Given the description of an element on the screen output the (x, y) to click on. 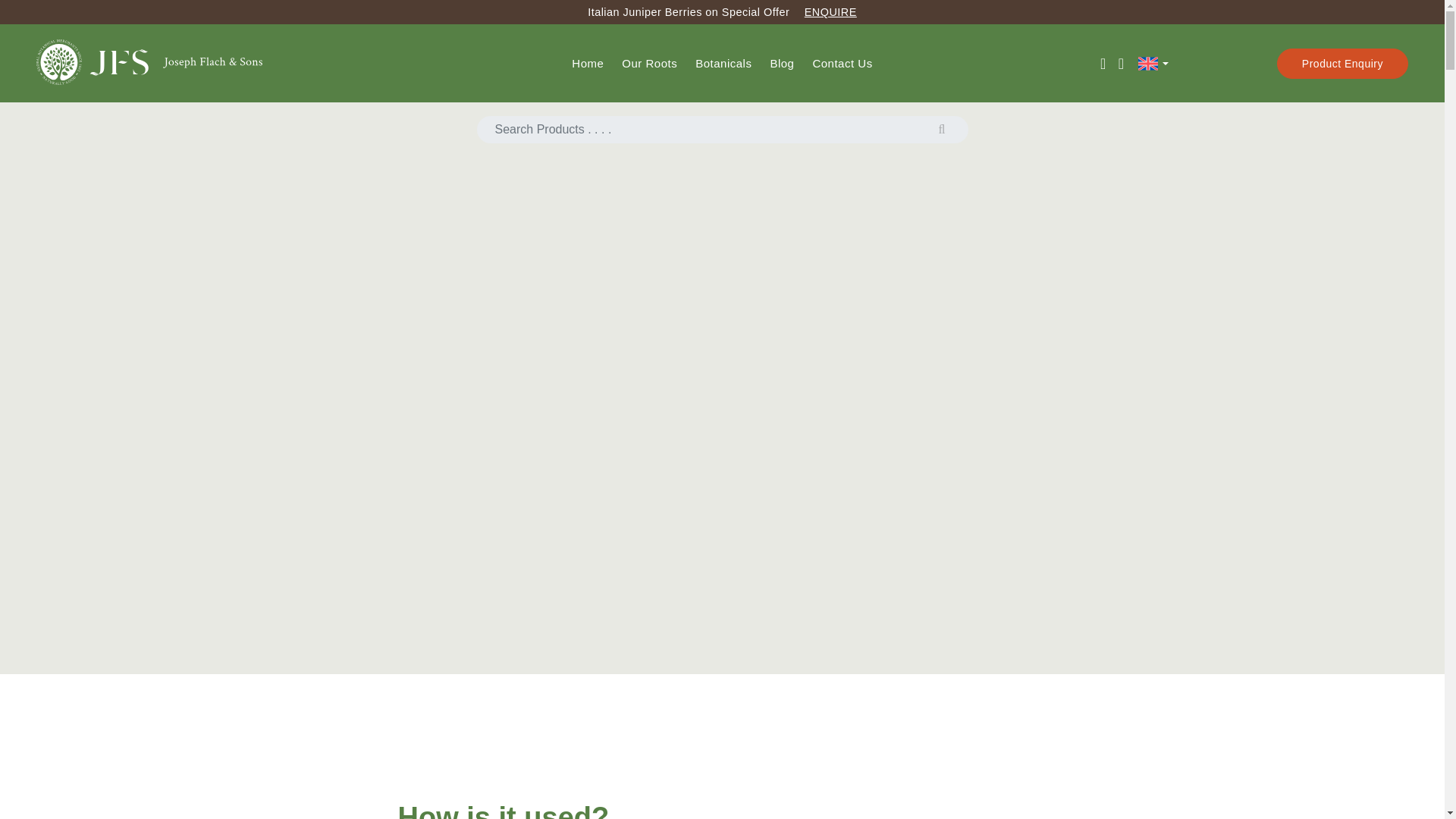
ENQUIRE (831, 11)
Botanicals (723, 62)
Product Enquiry (1341, 63)
Blog (781, 62)
Contact Us (842, 62)
Home (588, 62)
Our Roots (649, 62)
